Given the description of an element on the screen output the (x, y) to click on. 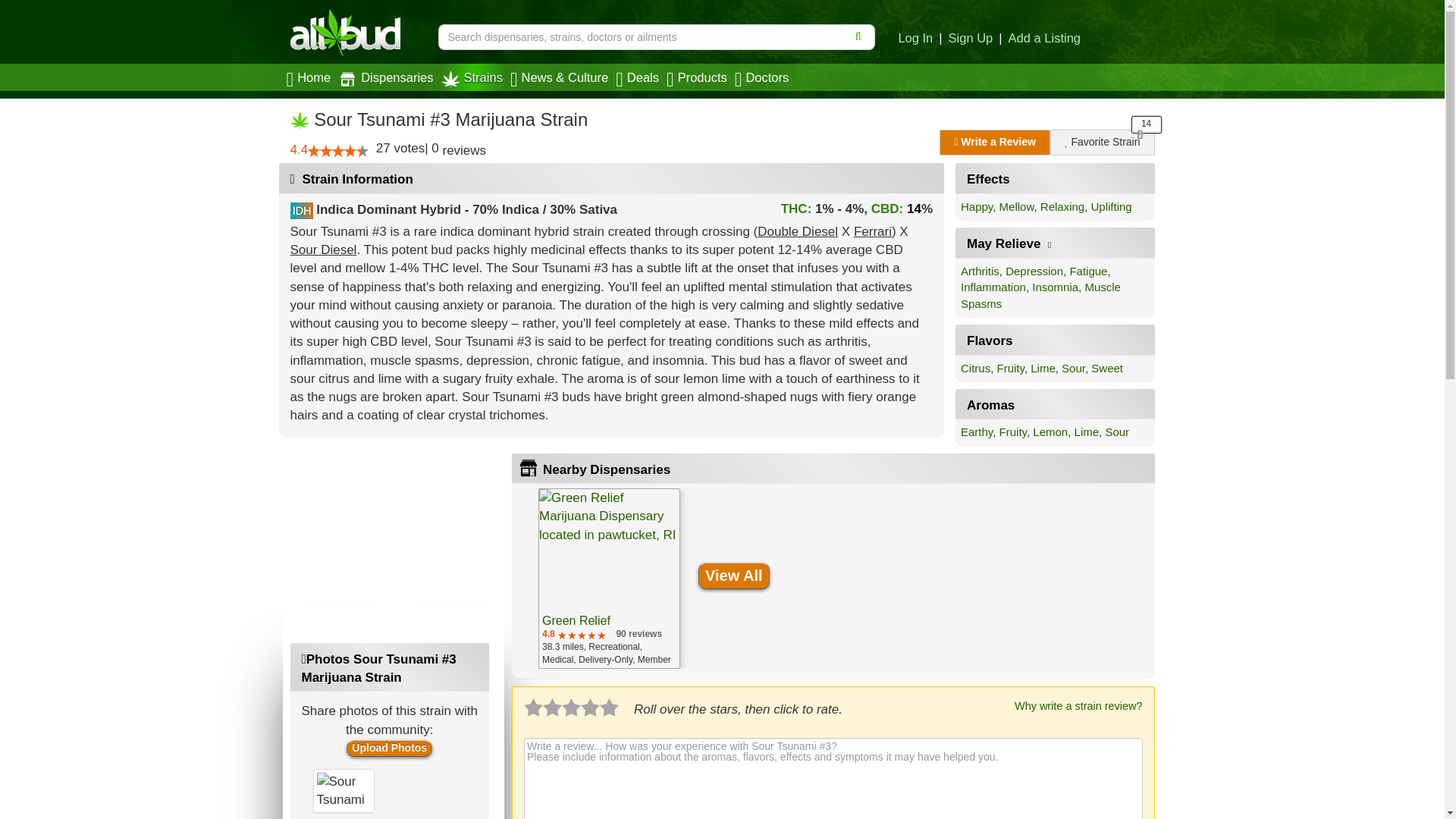
Add a Listing (1044, 39)
Doctors (764, 76)
Relaxing (1062, 205)
Uplifting (1111, 205)
Indica Dominant Hybrid (388, 209)
Happy (976, 205)
Home (310, 76)
Deals (638, 76)
Ferrari (872, 231)
Strains (473, 76)
